Given the description of an element on the screen output the (x, y) to click on. 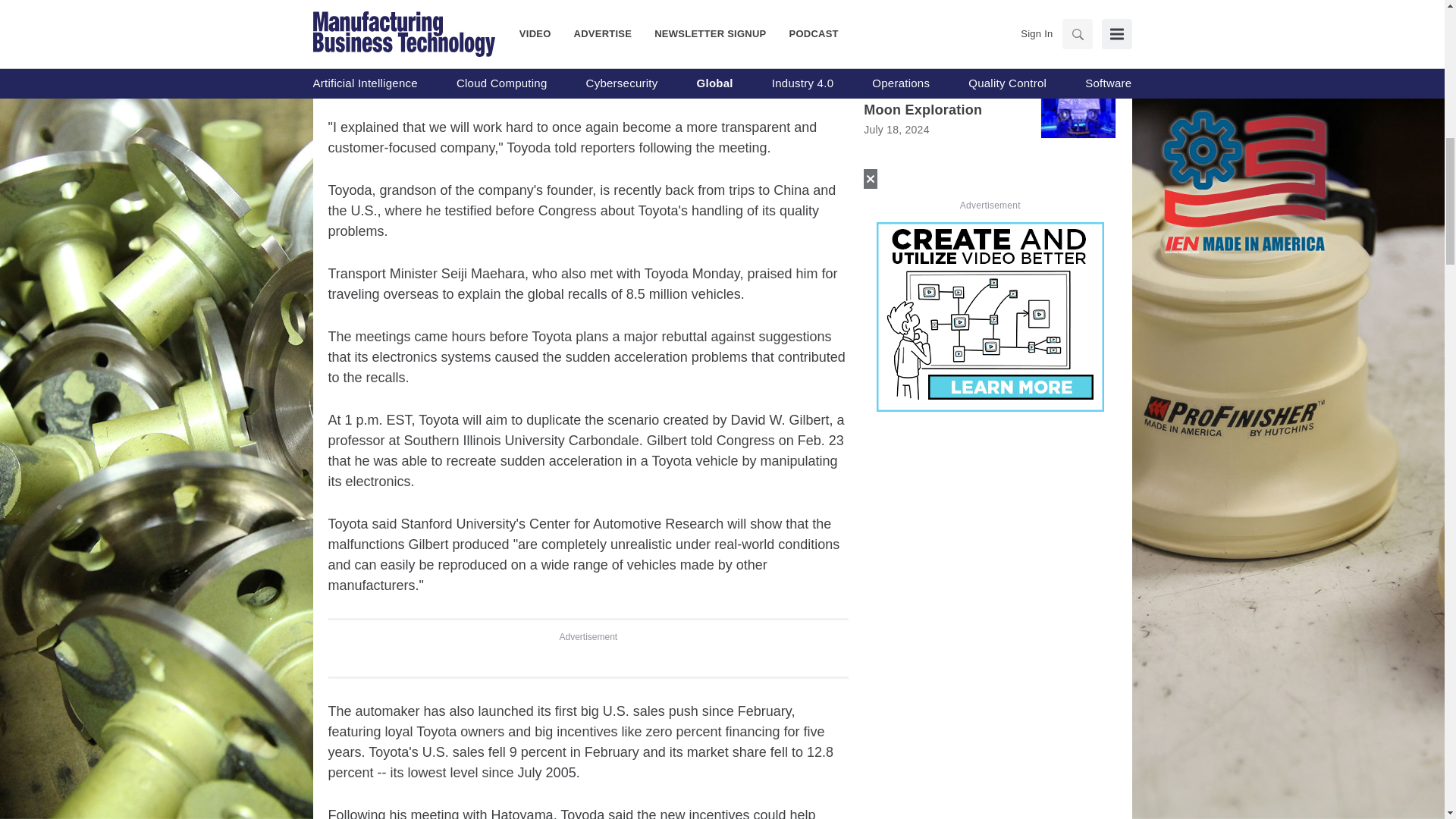
3rd party ad content (587, 34)
CLICK HERE FOR MORE INFORMATION (989, 299)
